Given the description of an element on the screen output the (x, y) to click on. 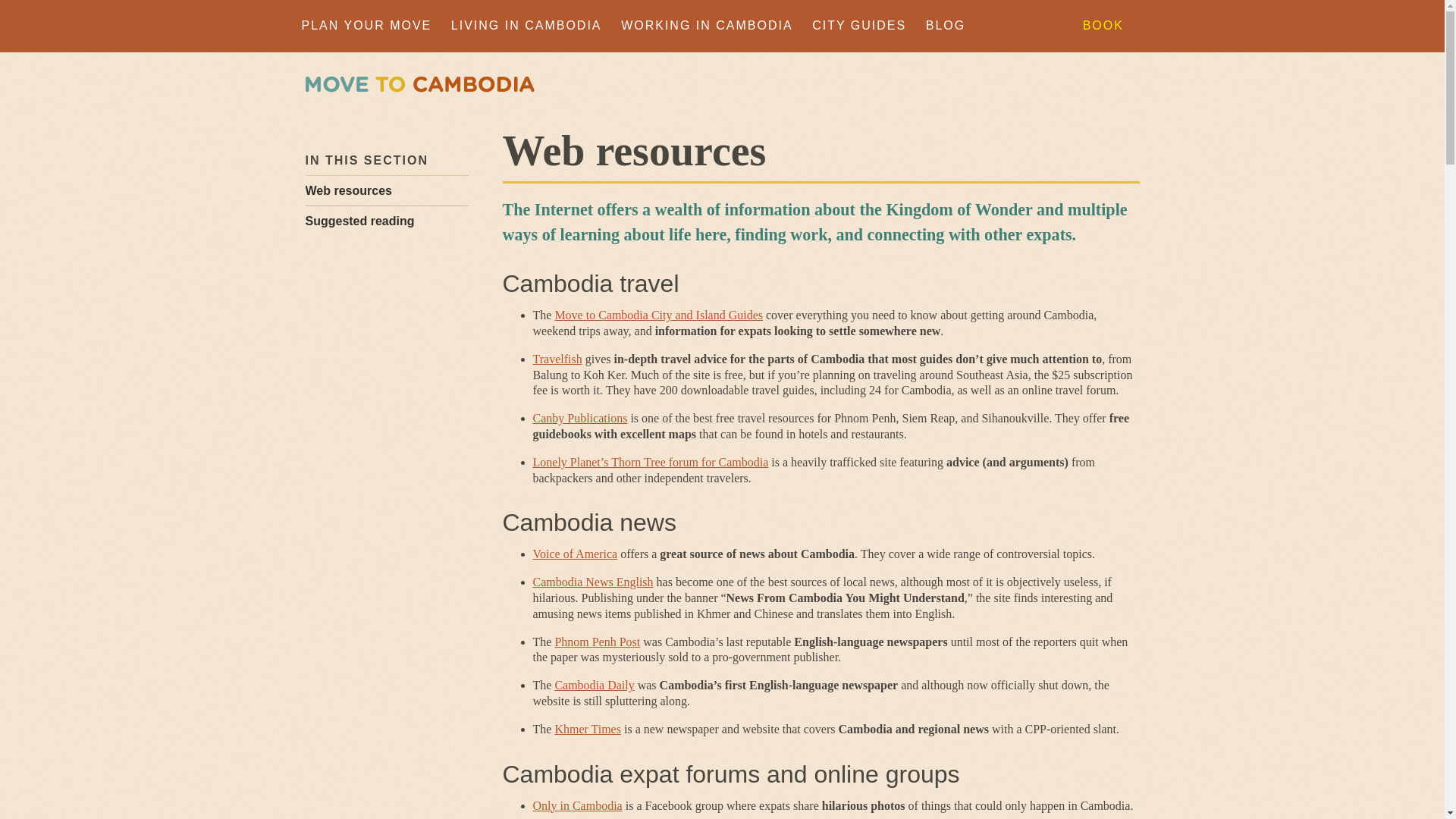
Canby Publications (579, 418)
Phnom Penh Post (597, 641)
Cambodia Daily (593, 684)
Only in Cambodia (576, 805)
MOVE TO CAMBODIA (419, 84)
CITY GUIDES (858, 26)
PLAN YOUR MOVE (366, 26)
WORKING IN CAMBODIA (706, 26)
Cambodia News English (592, 581)
Travelfish (556, 358)
Move to Cambodia City and Island Guides (658, 314)
LIVING IN CAMBODIA (526, 26)
Voice of America (574, 553)
Move to Cambodia (419, 84)
BLOG (945, 26)
